Given the description of an element on the screen output the (x, y) to click on. 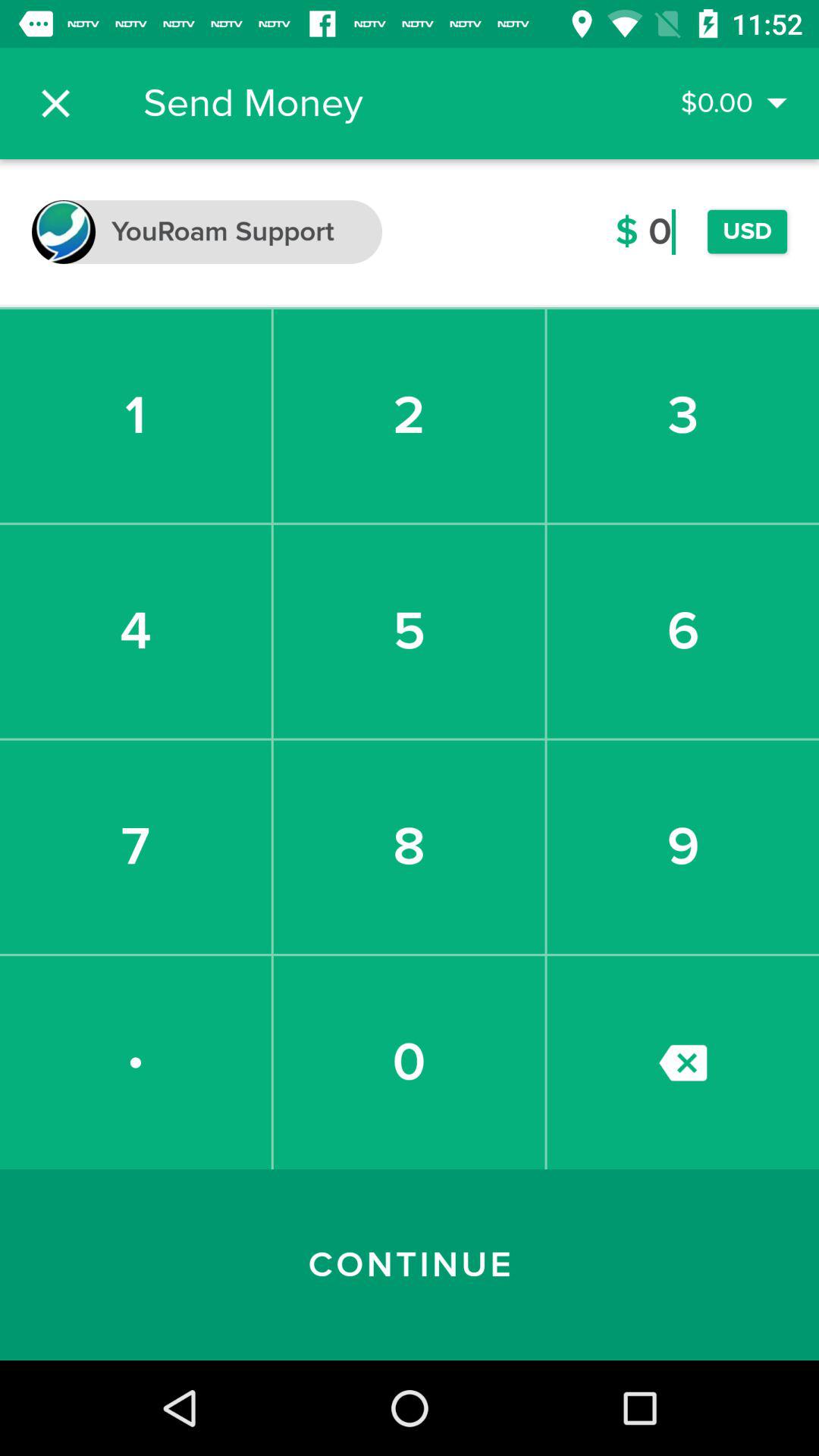
jump until the 9 item (683, 846)
